Given the description of an element on the screen output the (x, y) to click on. 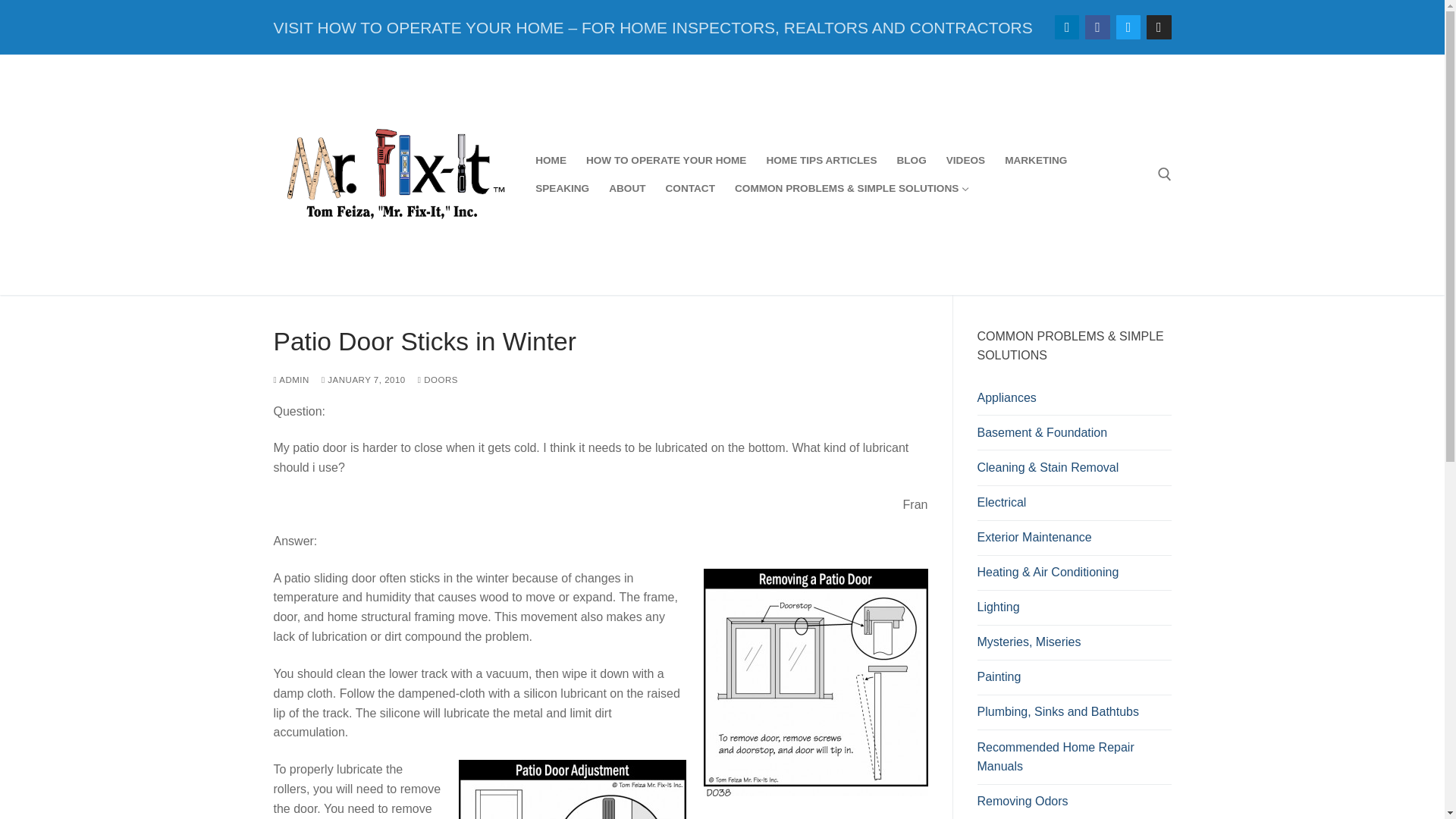
VIDEOS (965, 160)
Twitter (1128, 27)
CONTACT (690, 188)
LinkedIn (1066, 27)
Removing a Patio Door (815, 682)
SPEAKING (561, 188)
ABOUT (626, 188)
HOME (550, 160)
Facebook (1097, 27)
HOW TO OPERATE YOUR HOME (665, 160)
